Given the description of an element on the screen output the (x, y) to click on. 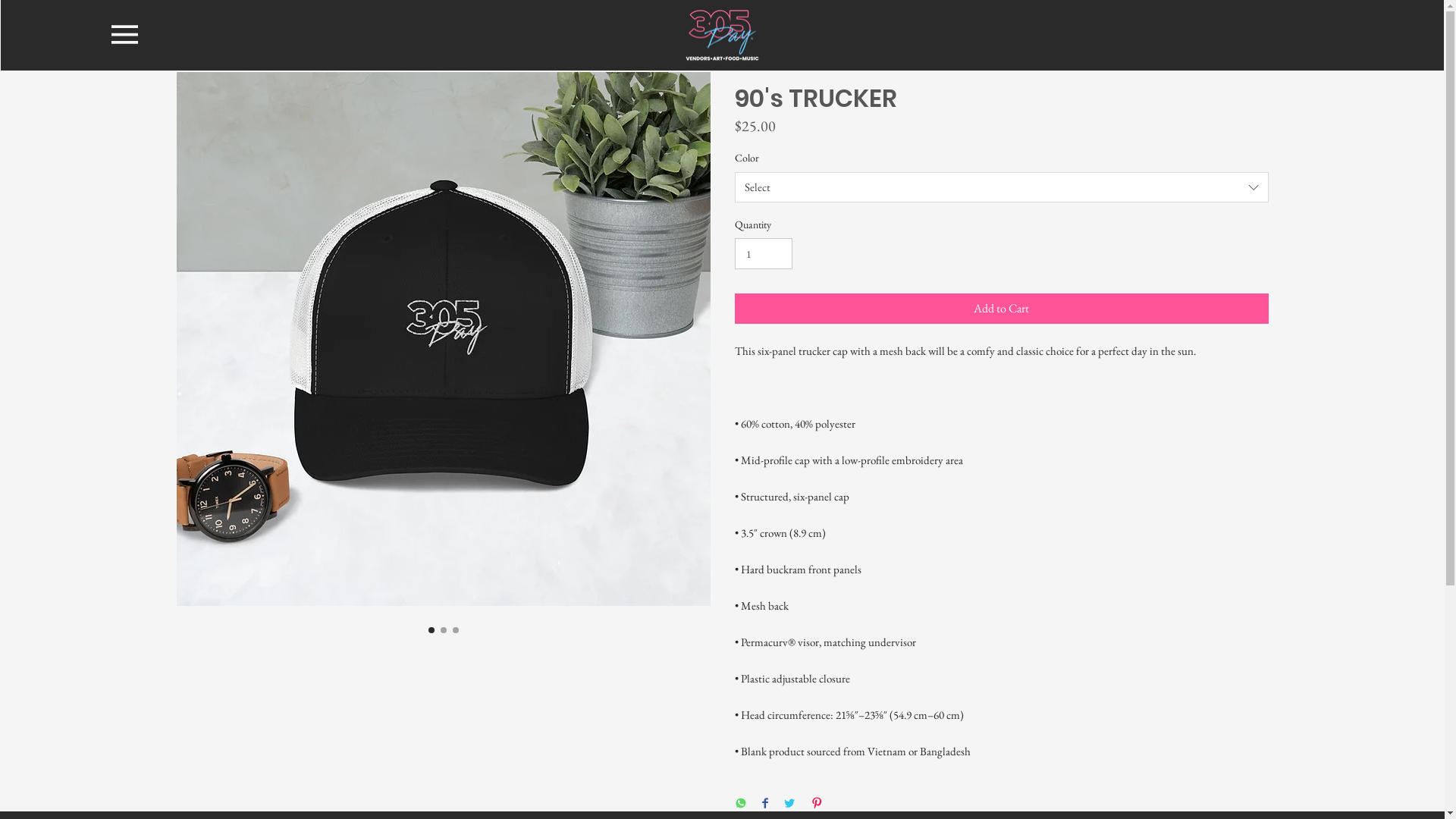
Add to Cart Element type: text (1000, 308)
Select Element type: text (1000, 187)
